Given the description of an element on the screen output the (x, y) to click on. 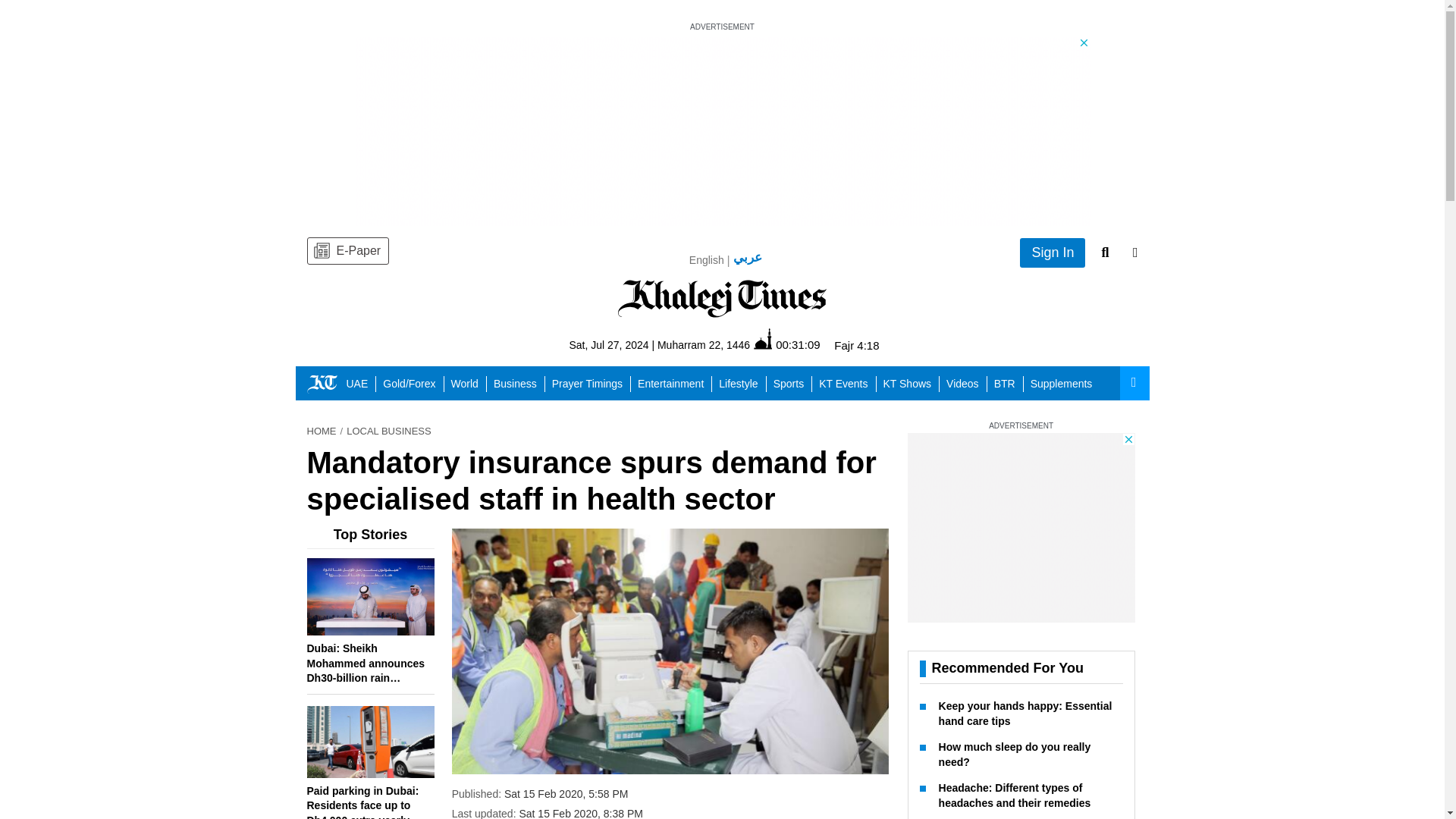
00:31:09 (786, 344)
Sign In (1052, 252)
E-Paper (346, 250)
3rd party ad content (1021, 527)
Fajr 4:18 (856, 345)
